Given the description of an element on the screen output the (x, y) to click on. 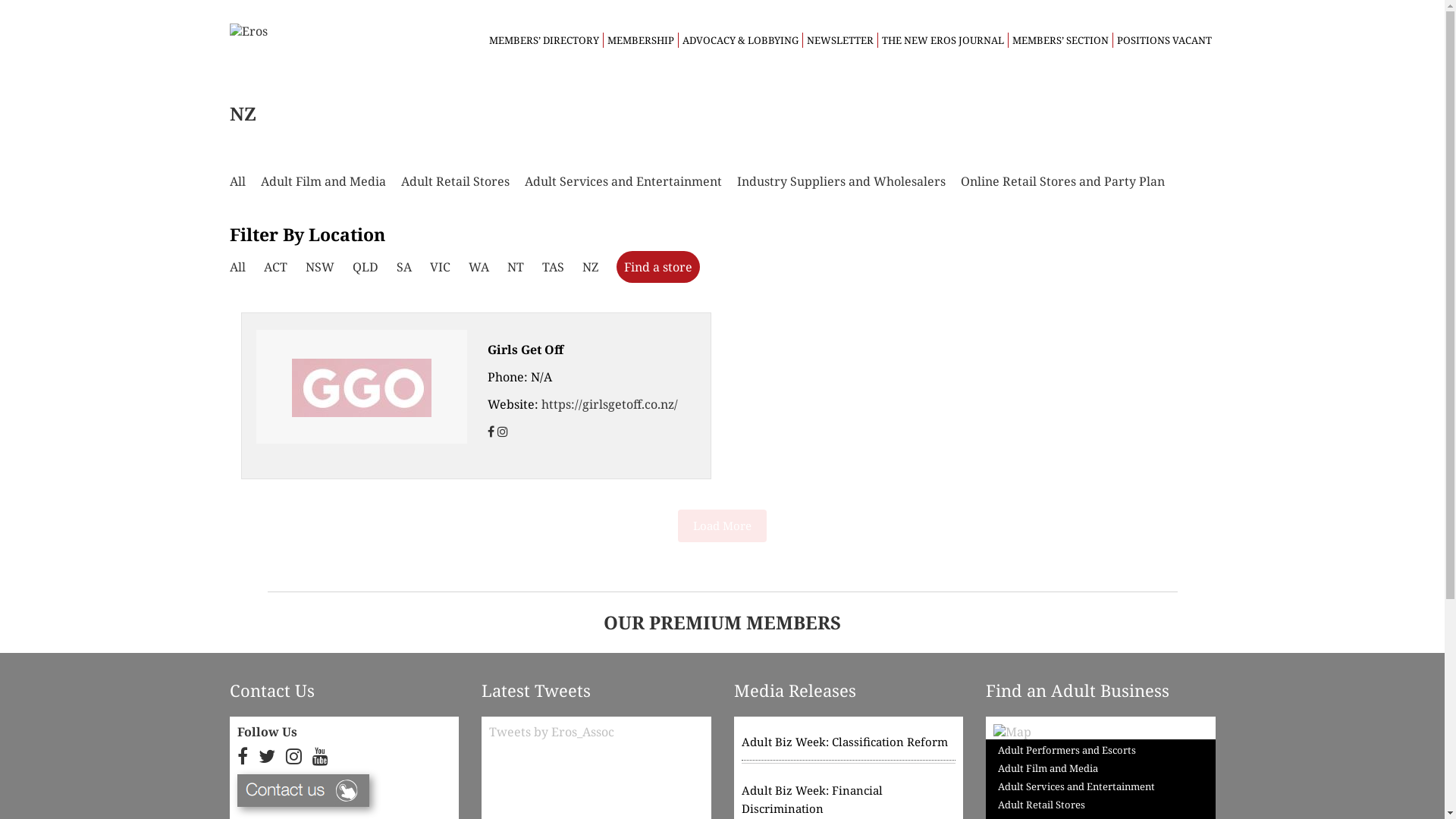
All Element type: text (236, 266)
Adult Film and Media Element type: text (322, 180)
TAS Element type: text (552, 266)
ADVOCACY & LOBBYING Element type: text (740, 39)
Adult Retail Stores Element type: text (454, 180)
ACT Element type: text (275, 266)
WA Element type: text (478, 266)
SA Element type: text (403, 266)
THE NEW EROS JOURNAL Element type: text (942, 39)
VIC Element type: text (439, 266)
Online Retail Stores and Party Plan Element type: text (1062, 180)
NEWSLETTER Element type: text (839, 39)
NZ Element type: text (590, 266)
Tweets by Eros_Assoc Element type: text (551, 731)
https://girlsgetoff.co.nz/ Element type: text (609, 403)
NT Element type: text (514, 266)
Industry Suppliers and Wholesalers Element type: text (841, 180)
QLD Element type: text (364, 266)
MEMBERSHIP Element type: text (639, 39)
Adult Services and Entertainment Element type: text (622, 180)
POSITIONS VACANT Element type: text (1163, 39)
Load More Element type: text (721, 525)
NSW Element type: text (318, 266)
Adult Retail Stores Element type: text (1041, 804)
Adult Biz Week: Classification Reform Element type: text (848, 746)
All Element type: text (236, 180)
Find a store Element type: text (657, 266)
Adult Performers and Escorts Element type: text (1066, 752)
Adult Film and Media Element type: text (1047, 767)
Adult Services and Entertainment Element type: text (1075, 786)
